Given the description of an element on the screen output the (x, y) to click on. 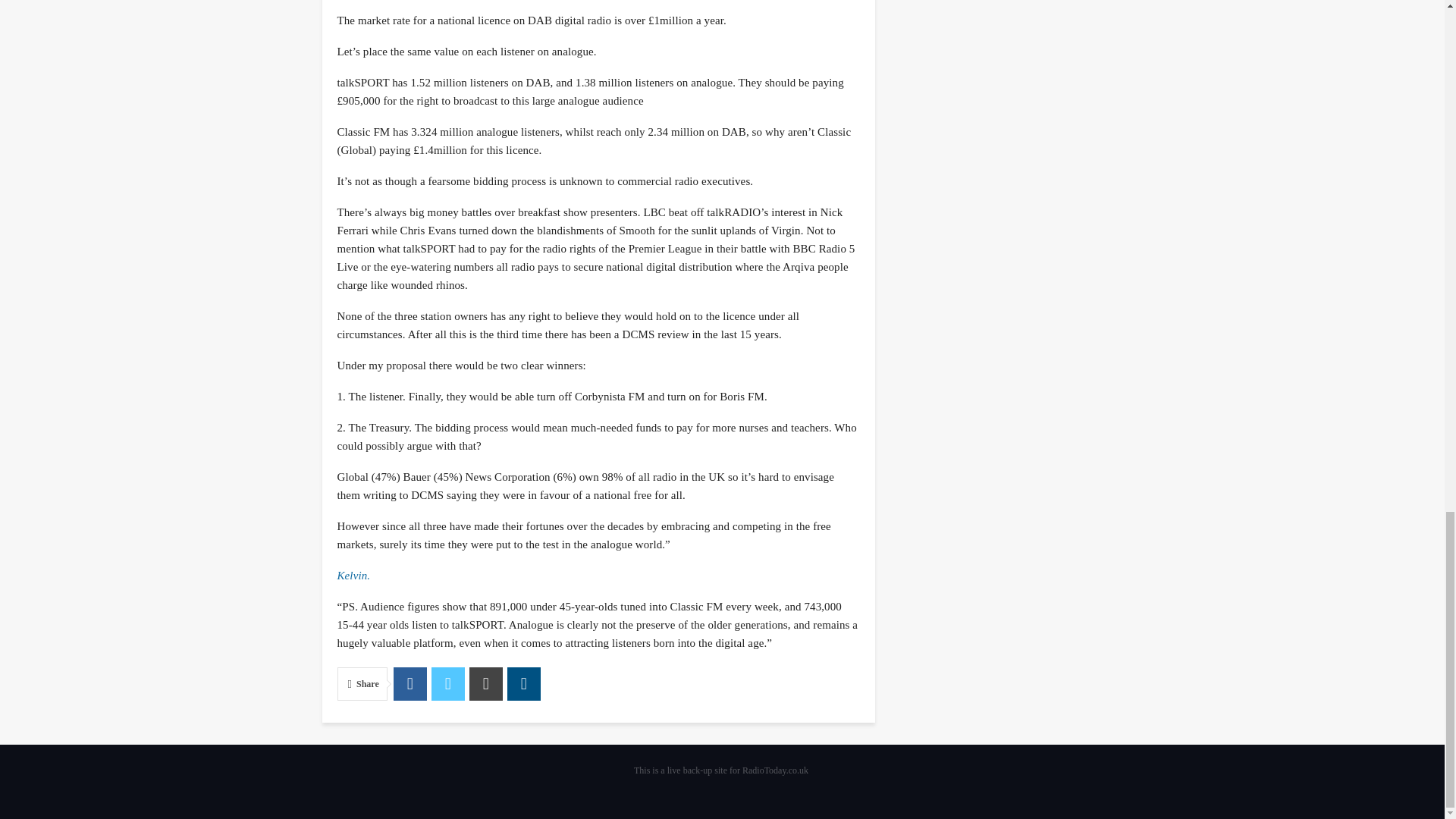
Kelvin. (352, 575)
